Given the description of an element on the screen output the (x, y) to click on. 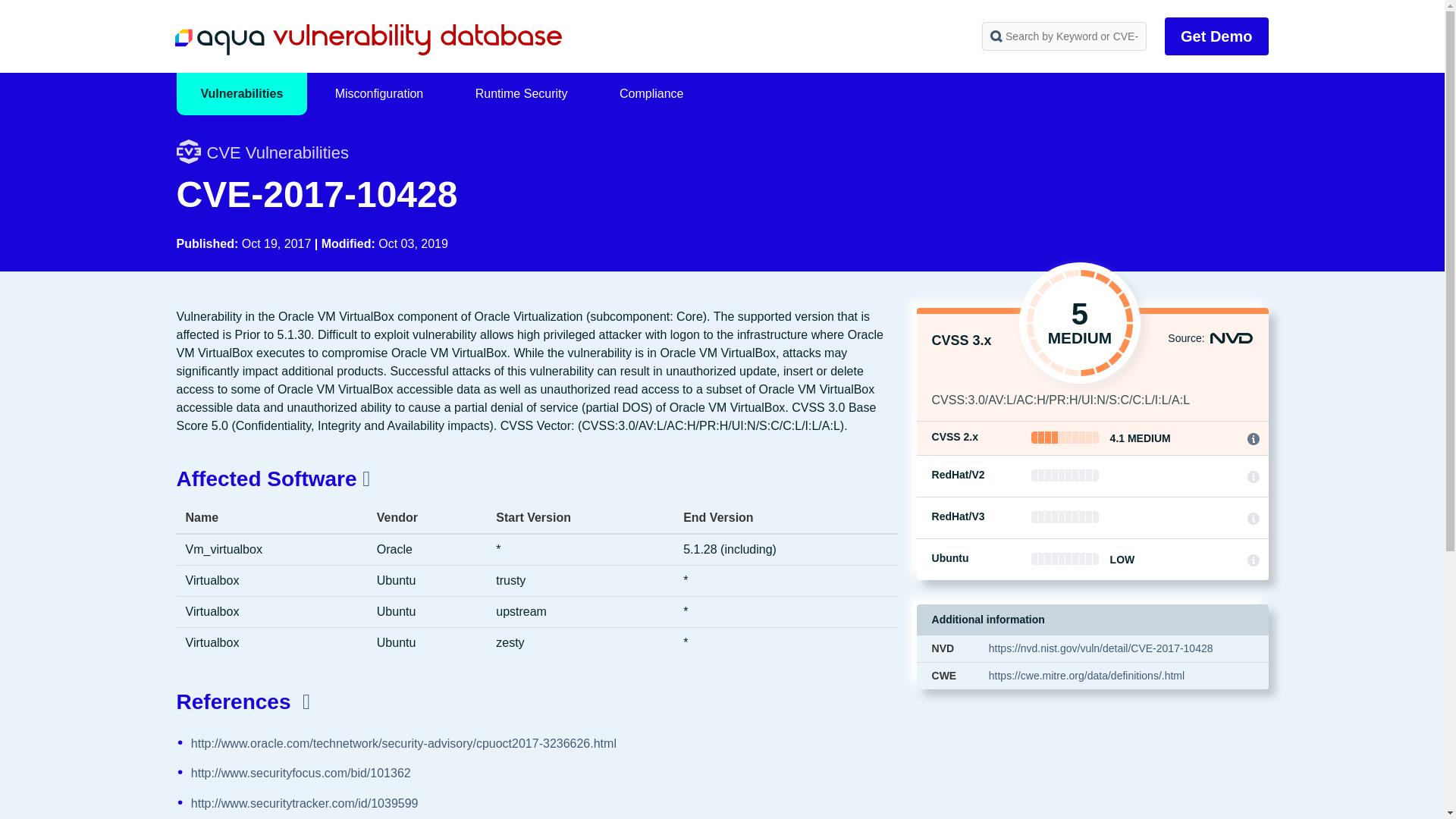
Aqua Vulnerability Database (367, 39)
Vulnerabilities (241, 93)
Compliance (651, 93)
Runtime Security (521, 93)
Aqua Vulnerability Database (367, 39)
Get Demo (1216, 36)
Misconfiguration (379, 93)
